Given the description of an element on the screen output the (x, y) to click on. 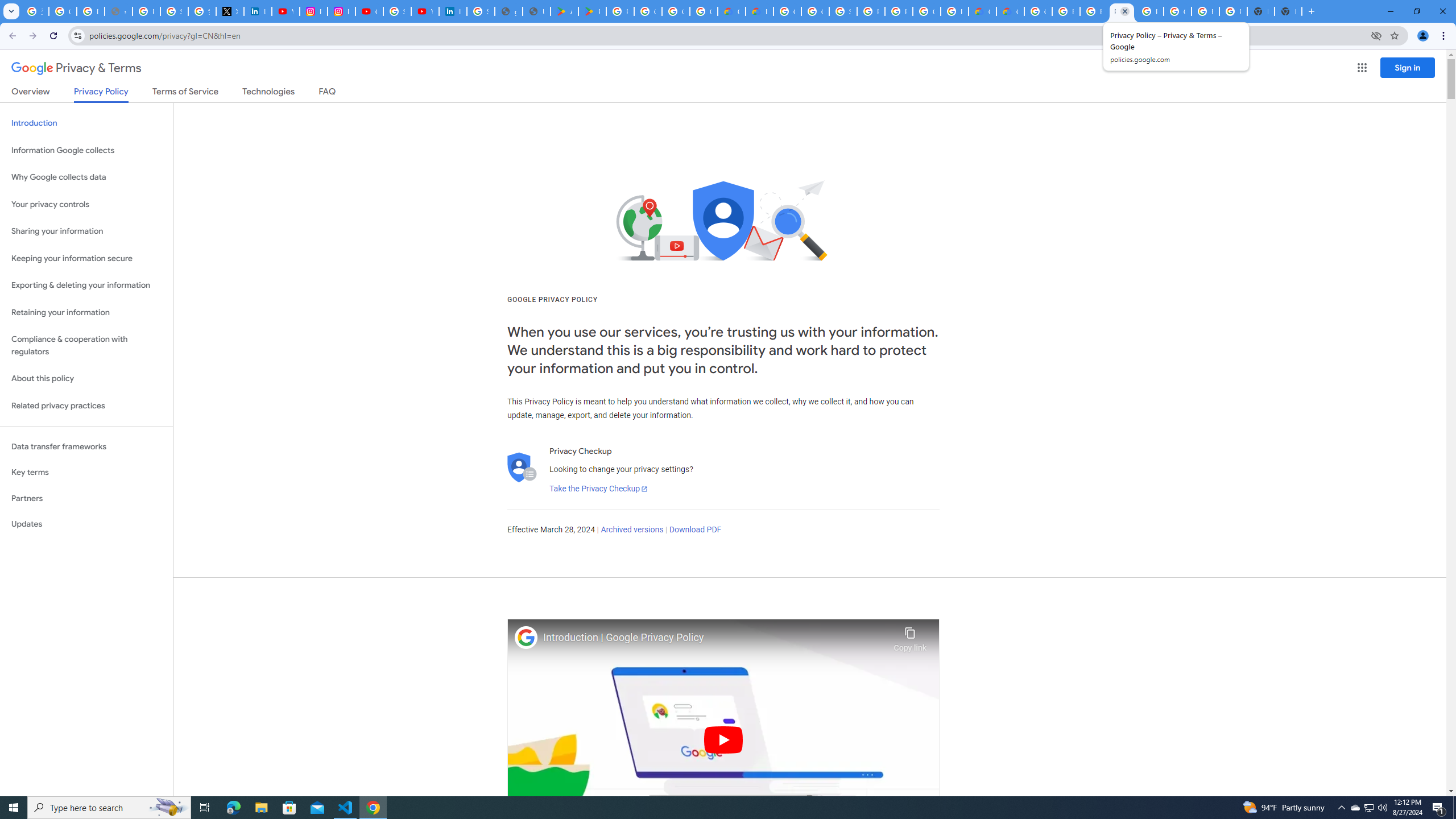
Google Cloud Estimate Summary (1010, 11)
Copy link (909, 636)
Android Apps on Google Play (564, 11)
Take the Privacy Checkup (597, 488)
Google Workspace - Specific Terms (675, 11)
Sign in - Google Accounts (480, 11)
Google Cloud Platform (926, 11)
Data transfer frameworks (86, 446)
